Given the description of an element on the screen output the (x, y) to click on. 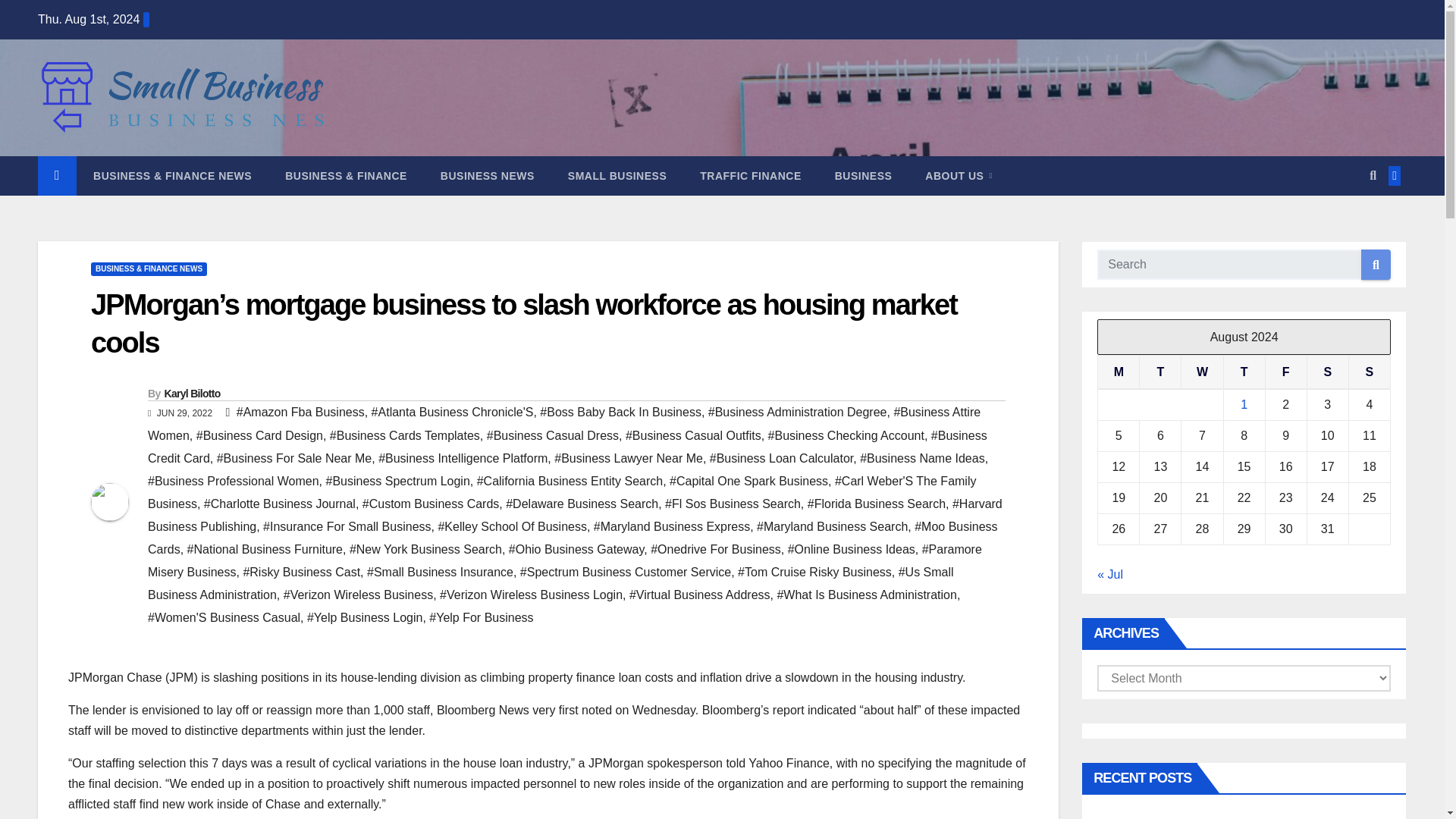
BUSINESS (863, 175)
BUSINESS NEWS (487, 175)
TRAFFIC FINANCE (750, 175)
About us (958, 175)
SMALL BUSINESS (616, 175)
ABOUT US (958, 175)
Traffic Finance (750, 175)
Small Business (616, 175)
Karyl Bilotto (191, 393)
Business (863, 175)
Business News (487, 175)
